Given the description of an element on the screen output the (x, y) to click on. 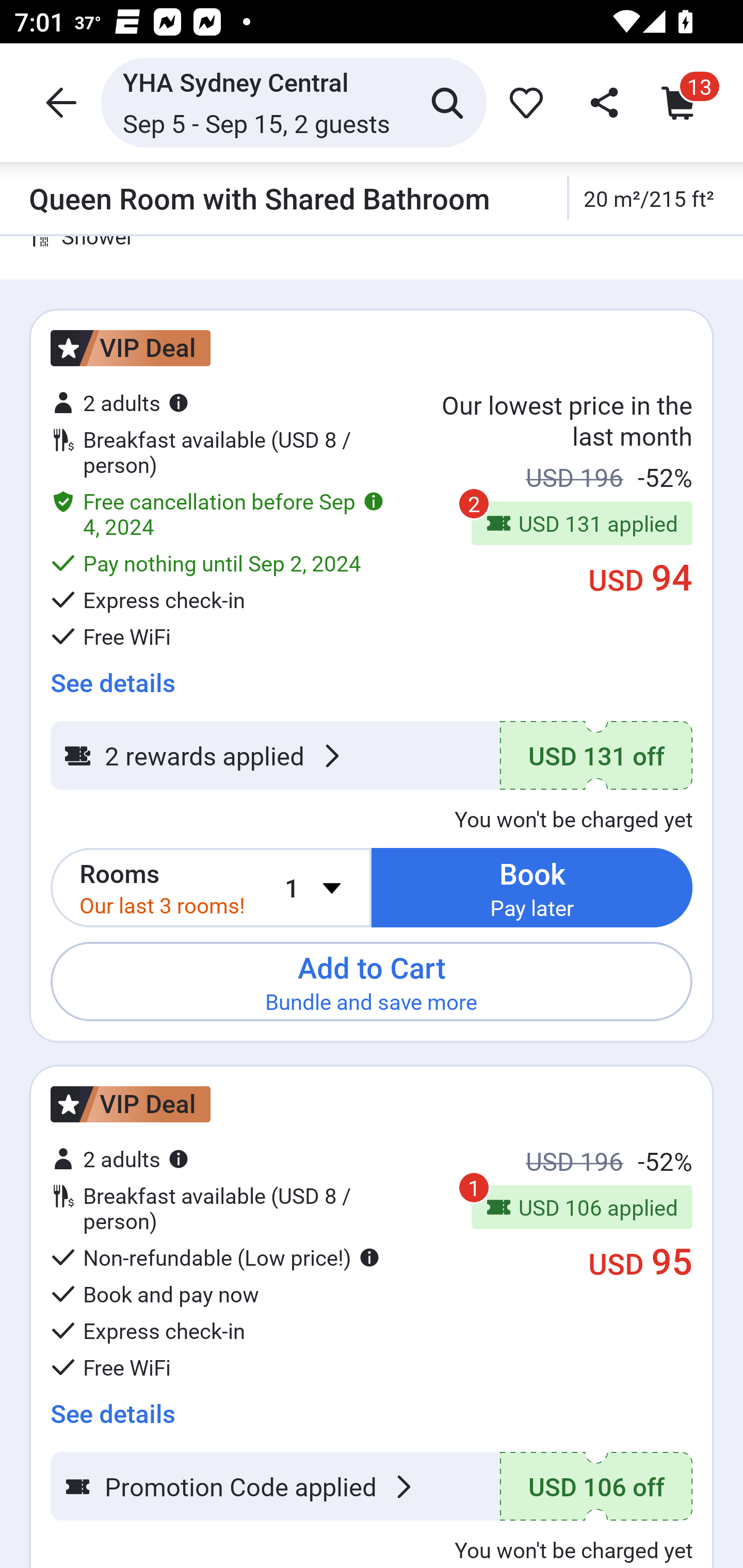
header icon (59, 102)
favorite_icon 0dbe6efb (522, 102)
share_header_icon (601, 102)
Cart icon cart_item_count 13 (683, 102)
Free cancellation before Sep 4, 2024 (217, 513)
See details (112, 675)
2 rewards applied USD 131 off (371, 755)
Rooms Our last 3 rooms! 1 (210, 887)
Book Pay later (531, 887)
Add to Cart Bundle and save more (371, 981)
See details (112, 1406)
Promotion Code applied USD 106 off (371, 1486)
